Given the description of an element on the screen output the (x, y) to click on. 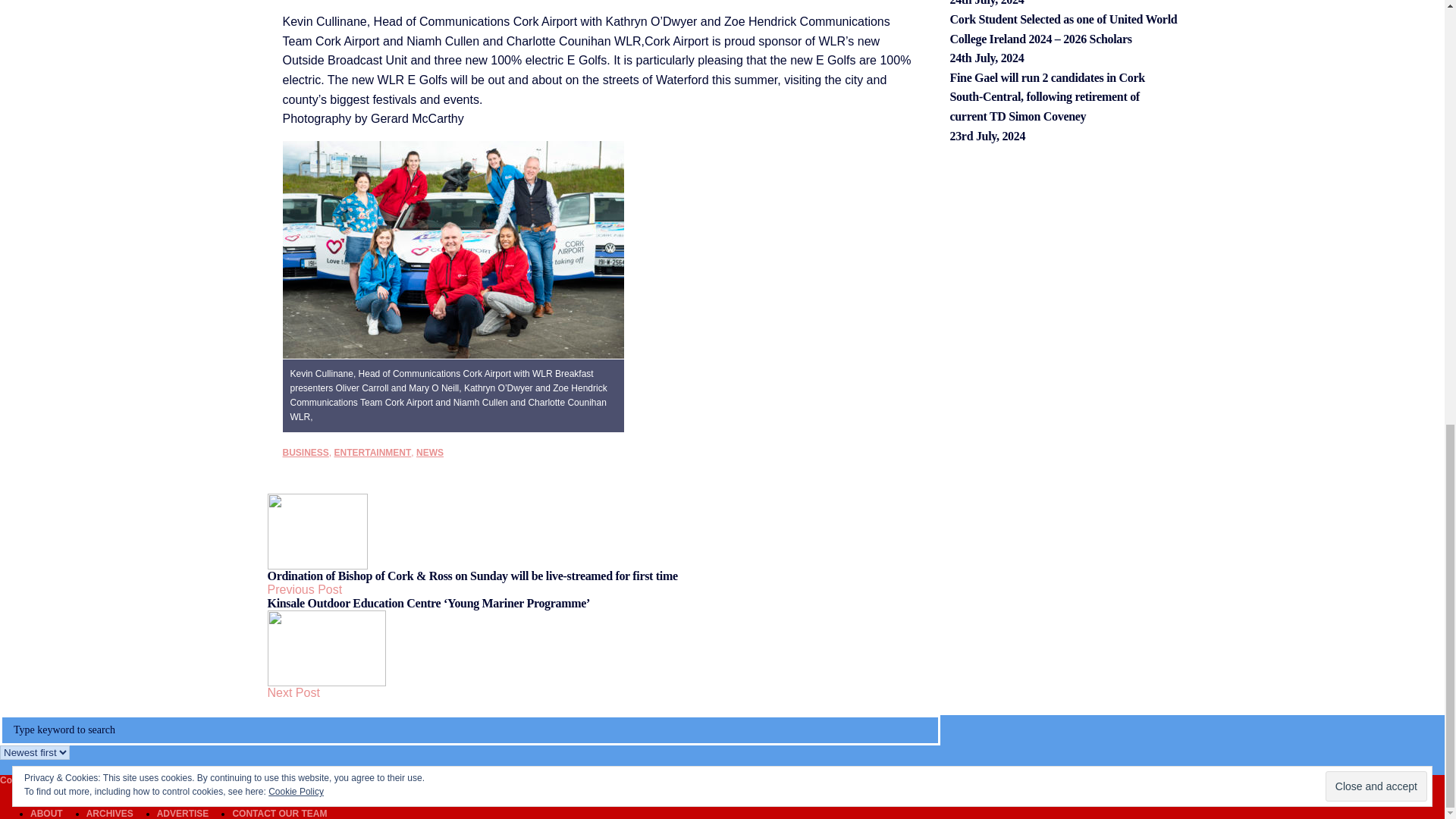
Type keyword to search (470, 729)
Type keyword to search (470, 729)
